Given the description of an element on the screen output the (x, y) to click on. 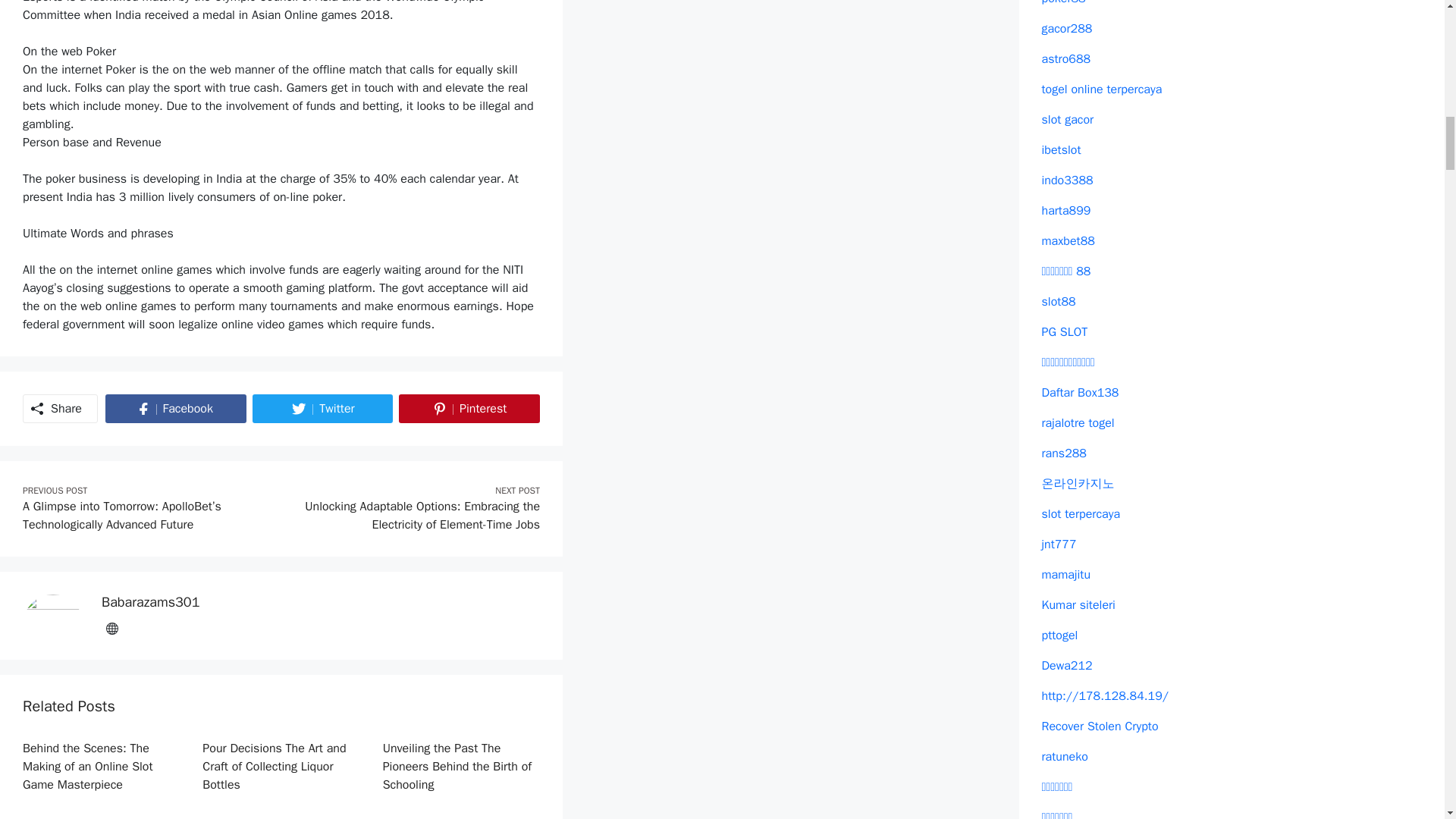
Previous post (322, 408)
Share on Facebook (148, 515)
Next post (175, 408)
Babarazams301 (414, 515)
Author babarazams301 (150, 601)
Pin on Pinterest (175, 408)
Share on Twitter (150, 601)
